Given the description of an element on the screen output the (x, y) to click on. 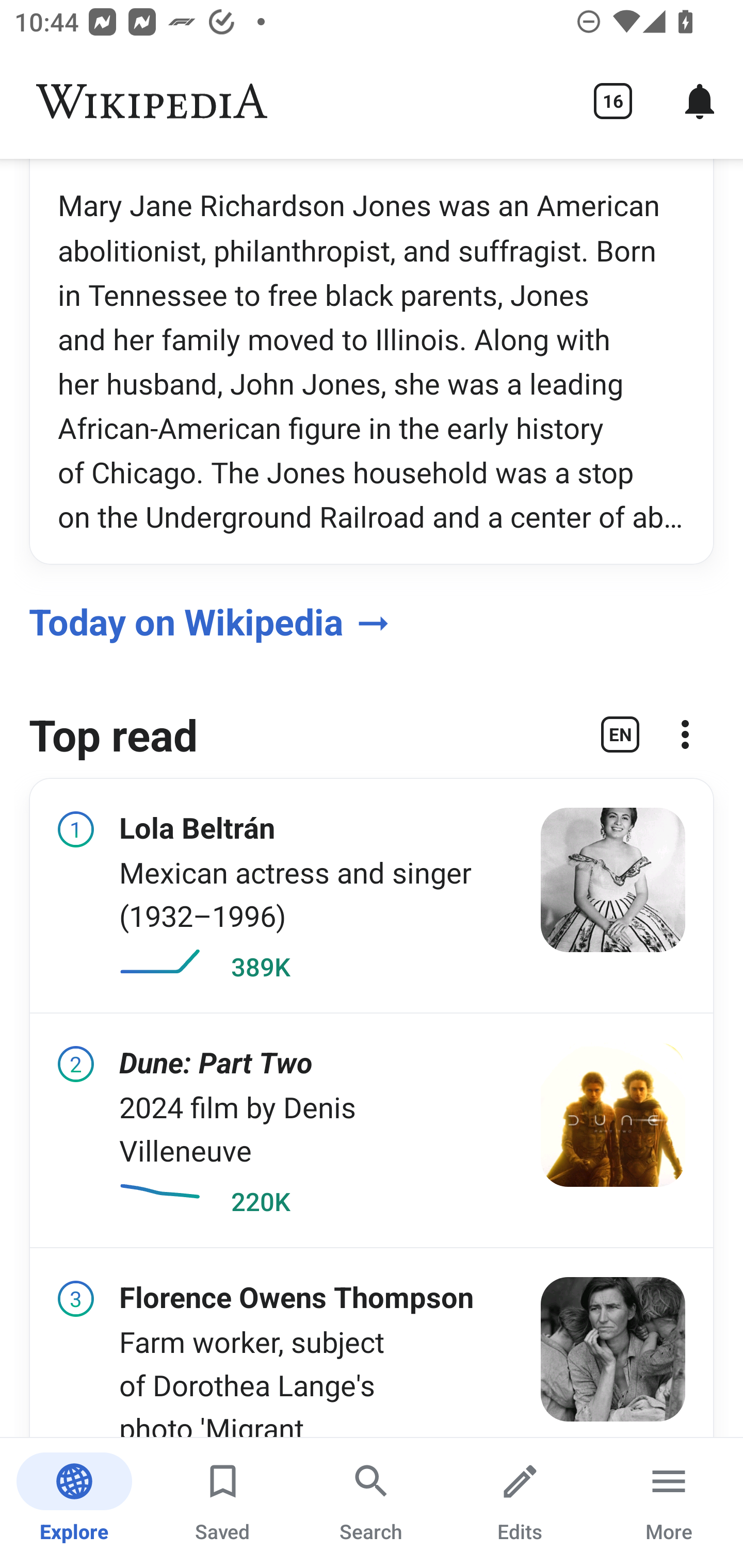
Show tabs 16 (612, 101)
Notifications (699, 101)
Today on Wikipedia   (371, 618)
More options (684, 741)
Saved (222, 1502)
Search (371, 1502)
Edits (519, 1502)
More (668, 1502)
